Given the description of an element on the screen output the (x, y) to click on. 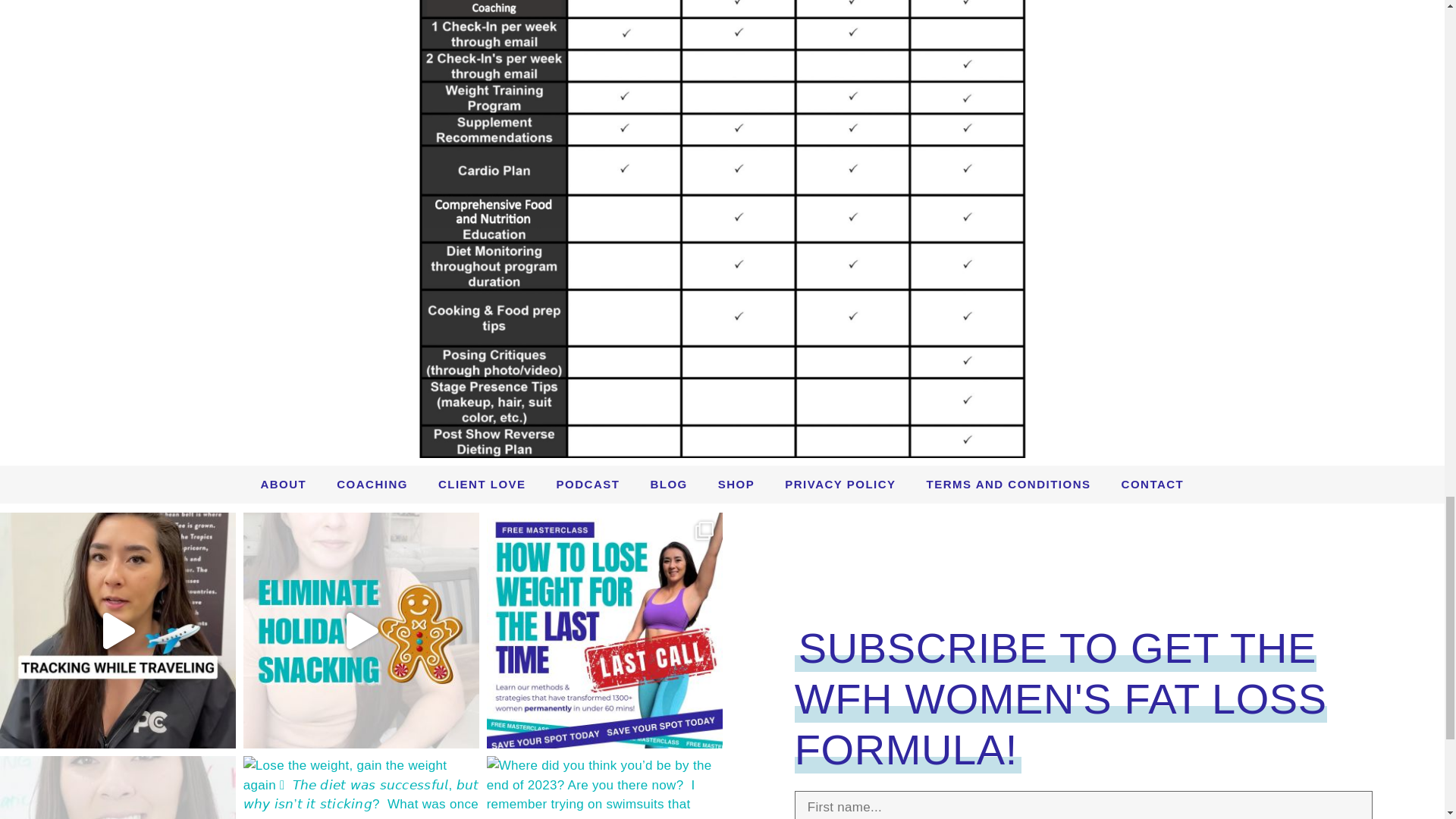
CLIENT LOVE (482, 483)
ABOUT (282, 483)
COACHING (372, 483)
SHOP (736, 483)
PRIVACY POLICY (840, 483)
BLOG (667, 483)
PODCAST (587, 483)
